Given the description of an element on the screen output the (x, y) to click on. 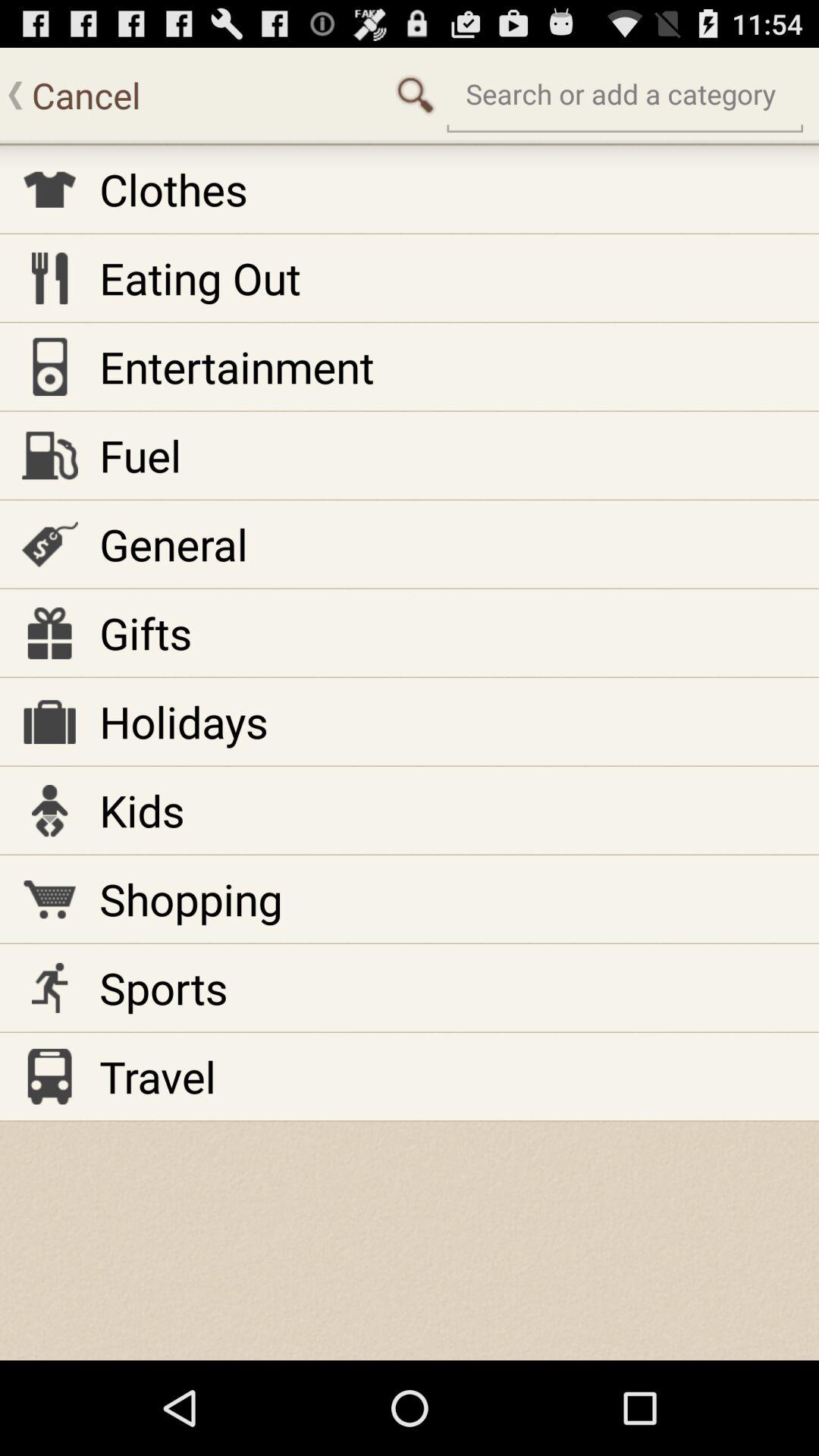
scroll until the eating out item (199, 277)
